Given the description of an element on the screen output the (x, y) to click on. 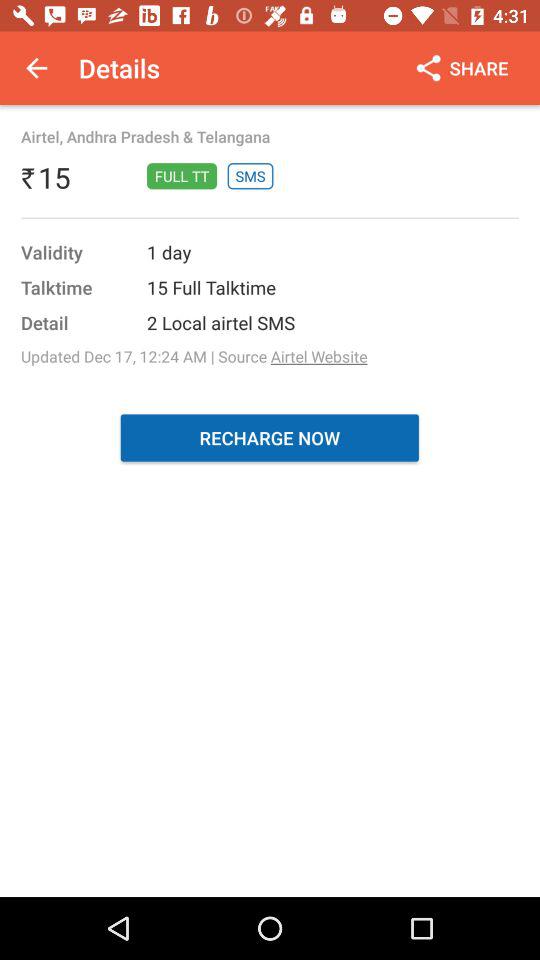
launch app next to details (36, 68)
